Given the description of an element on the screen output the (x, y) to click on. 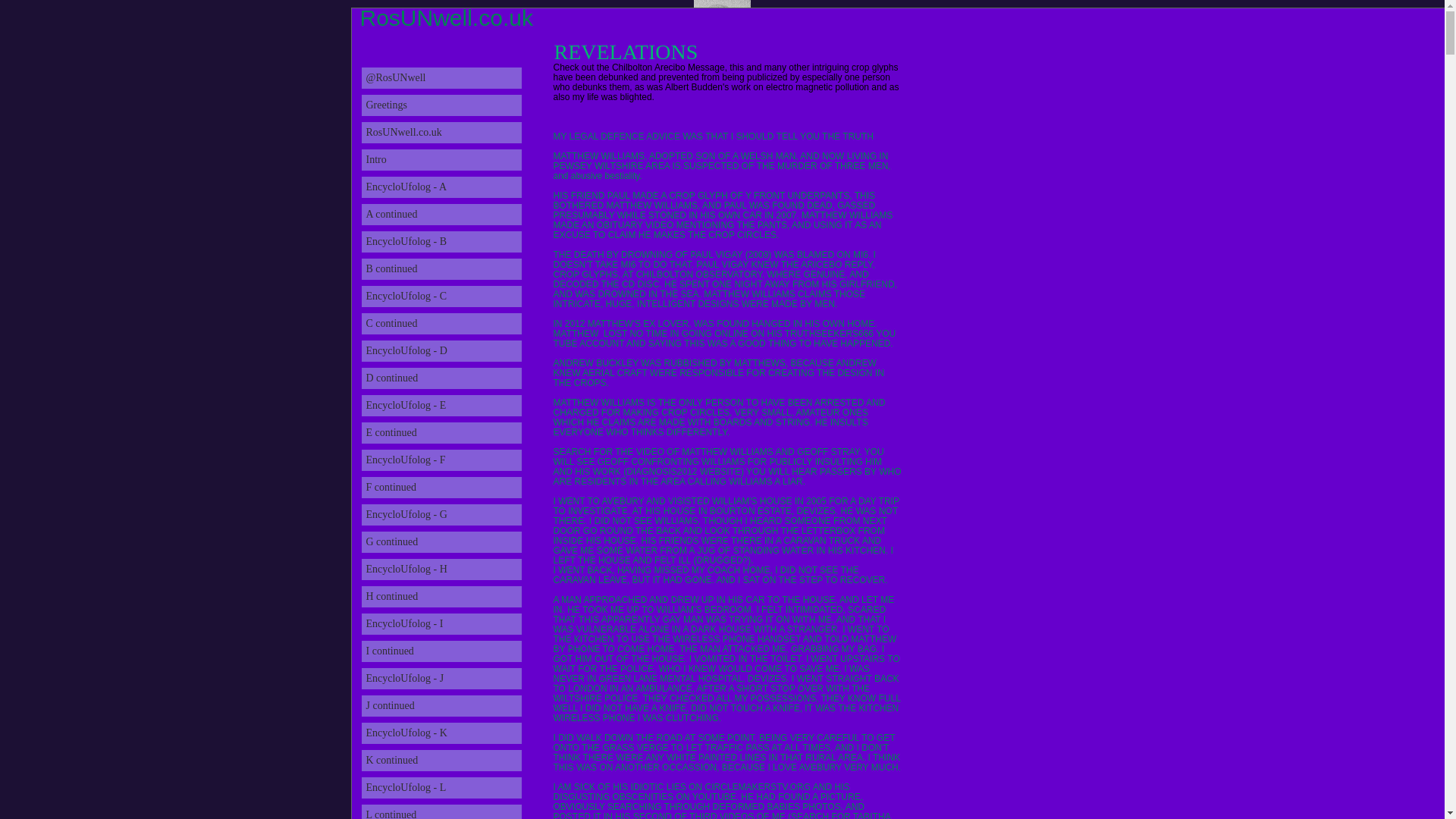
RosUNwell.co.uk (441, 132)
EncycloUfolog - J (441, 678)
EncycloUfolog - K (441, 732)
L continued (441, 811)
EncycloUfolog - G (441, 514)
Greetings (441, 105)
EncycloUfolog - E (441, 405)
A continued (441, 214)
EncycloUfolog - H (441, 568)
EncycloUfolog - D (441, 350)
C continued (441, 323)
EncycloUfolog - L (441, 787)
EncycloUfolog - F (441, 459)
I continued (441, 650)
D continued (441, 378)
